Given the description of an element on the screen output the (x, y) to click on. 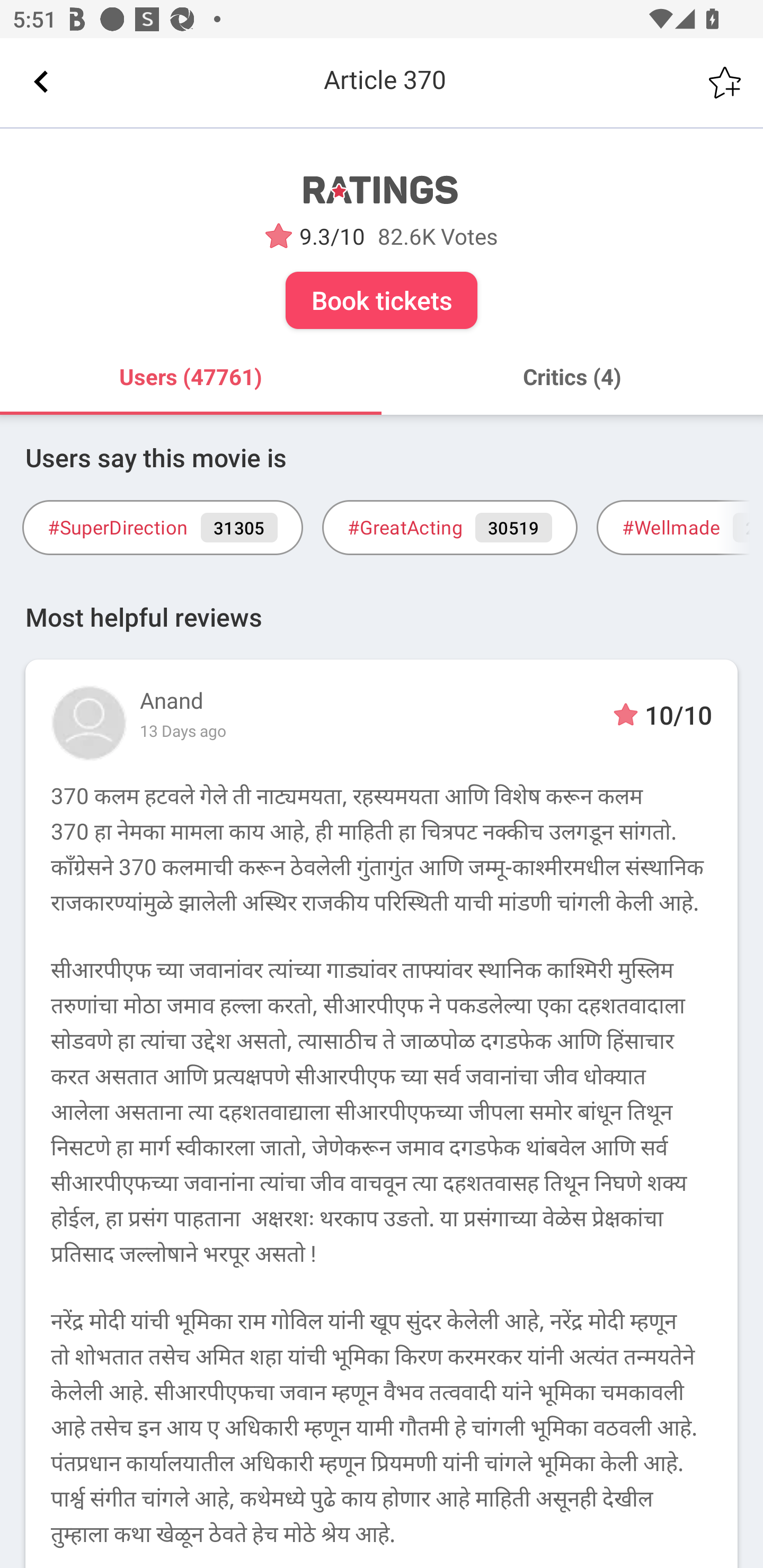
Back (41, 82)
Book tickets (381, 299)
Critics (4) (572, 376)
#SuperDirection 31305 (162, 527)
#GreatActing 30519 (449, 527)
#Wellmade 26434 (679, 527)
